Given the description of an element on the screen output the (x, y) to click on. 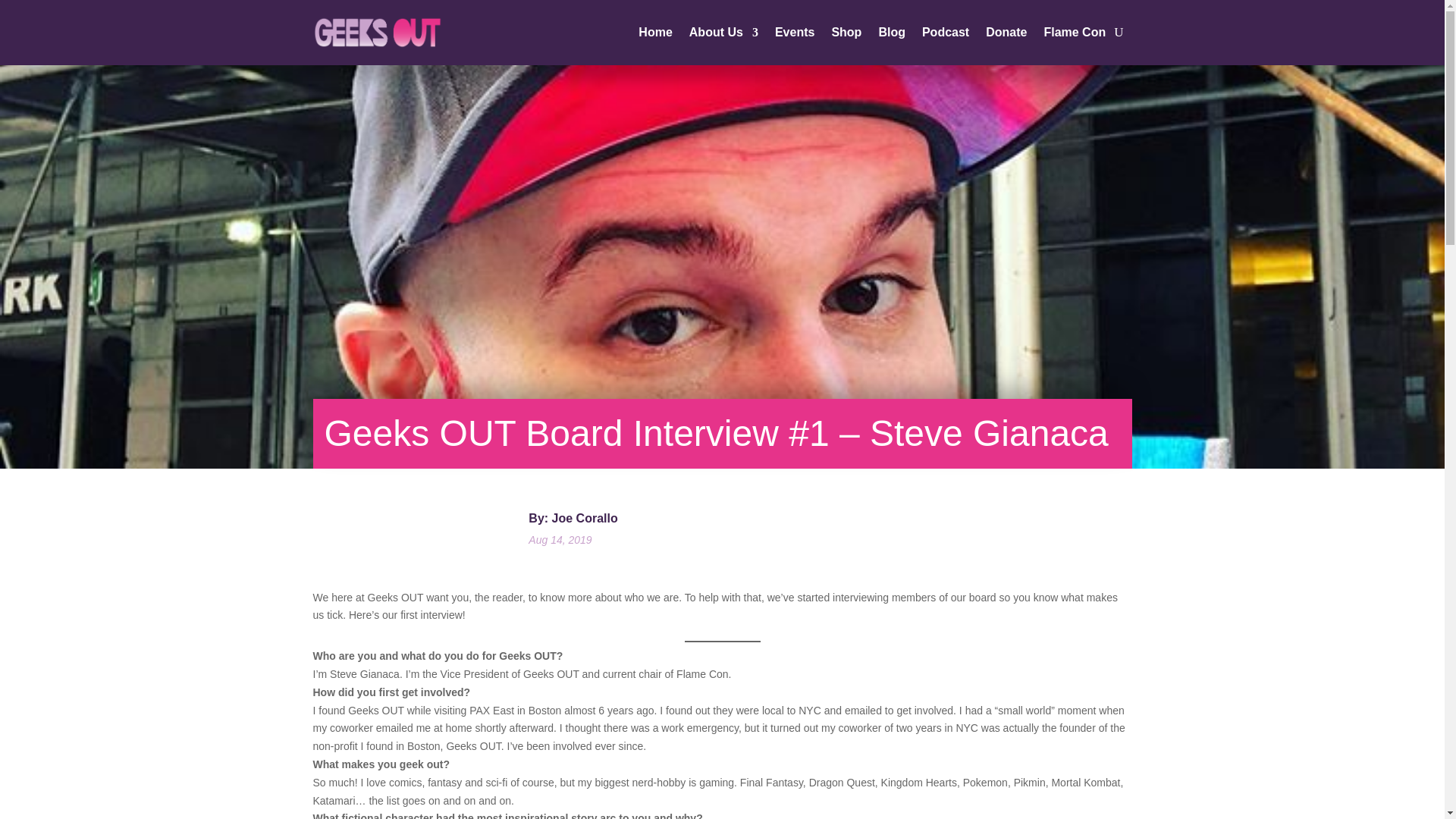
About Us (723, 32)
Flame Con (1074, 32)
